Given the description of an element on the screen output the (x, y) to click on. 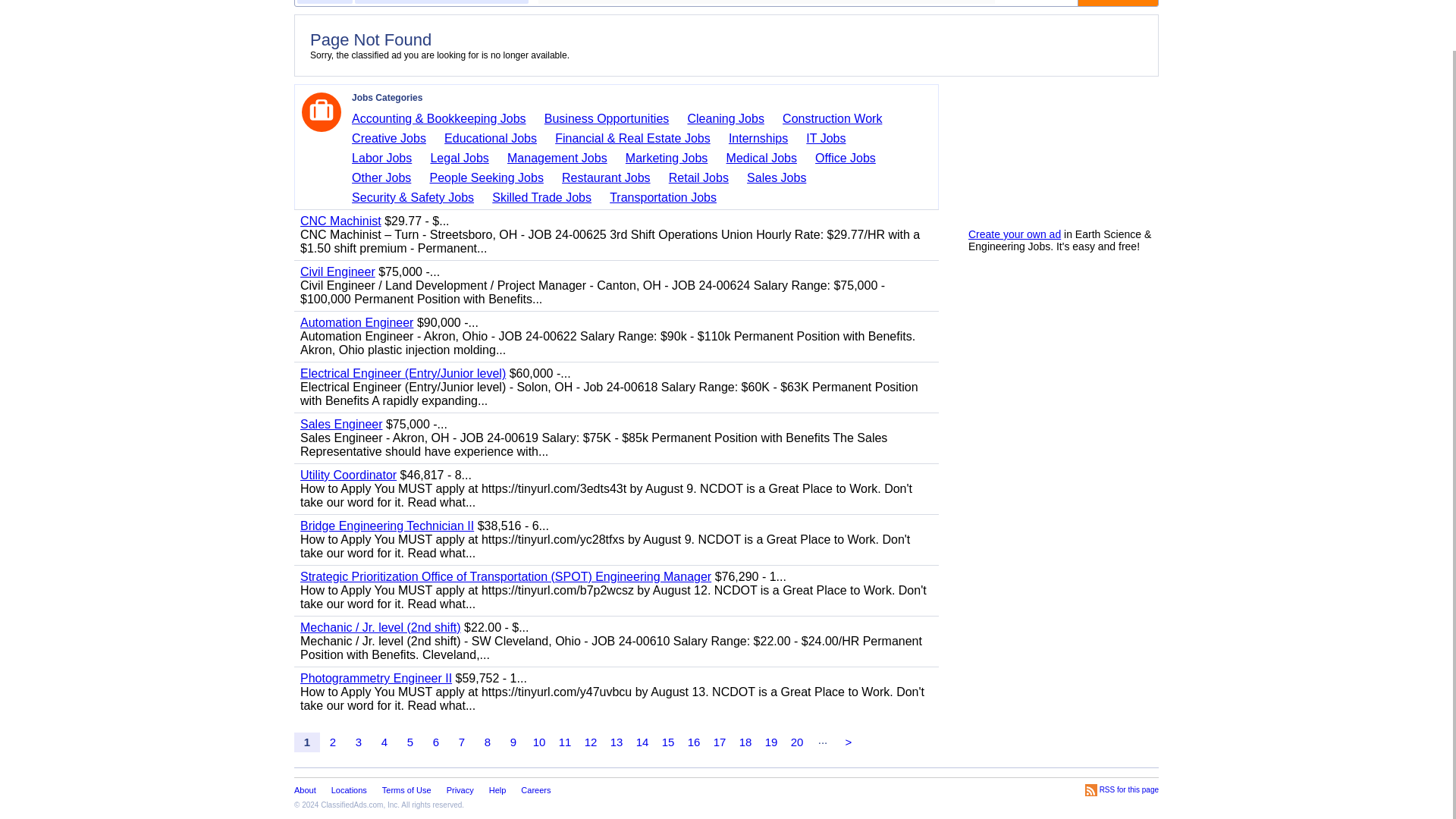
SEARCH (1117, 2)
SEARCH (1117, 2)
